Given the description of an element on the screen output the (x, y) to click on. 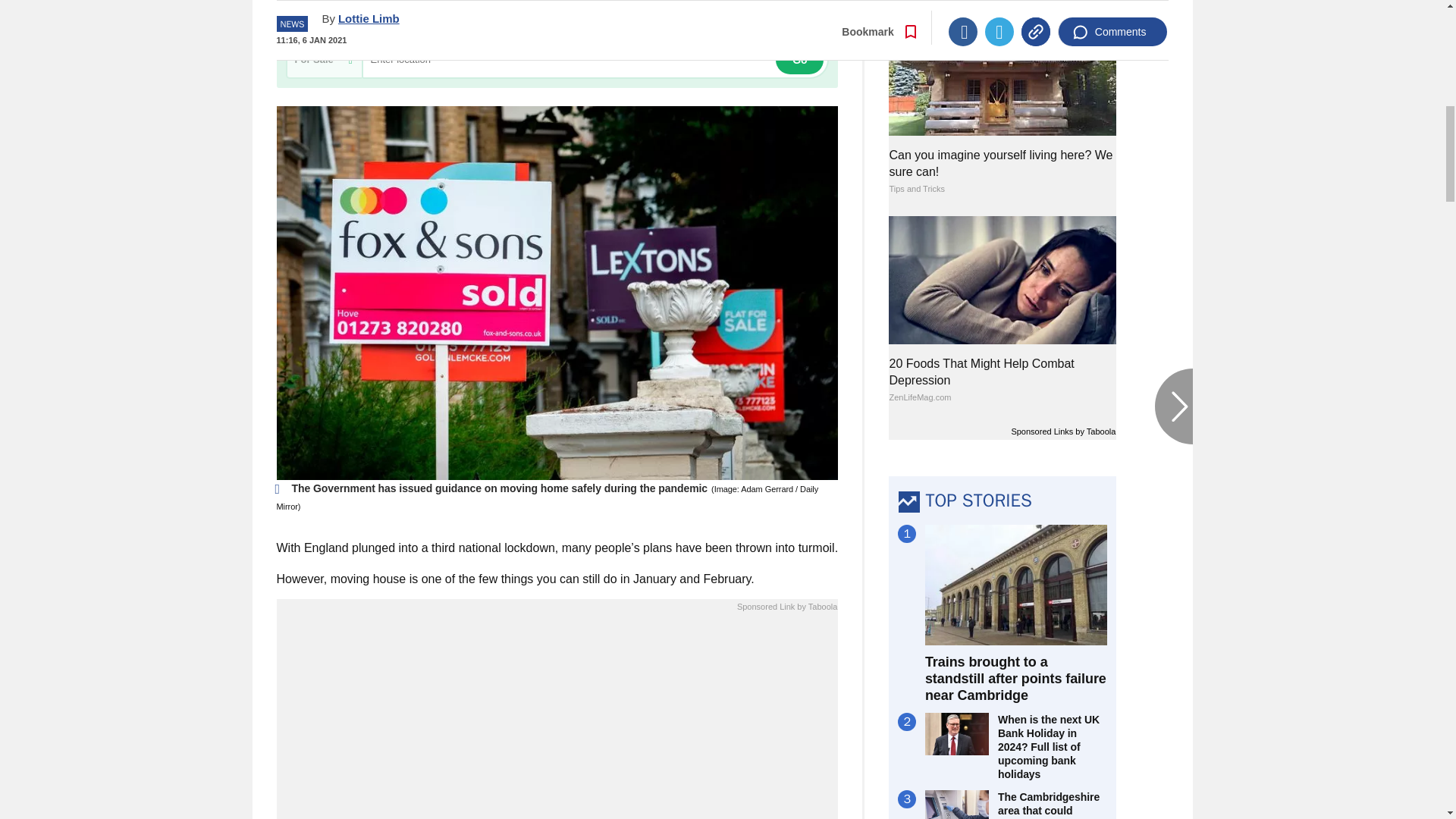
Go (800, 59)
Go (800, 59)
